Given the description of an element on the screen output the (x, y) to click on. 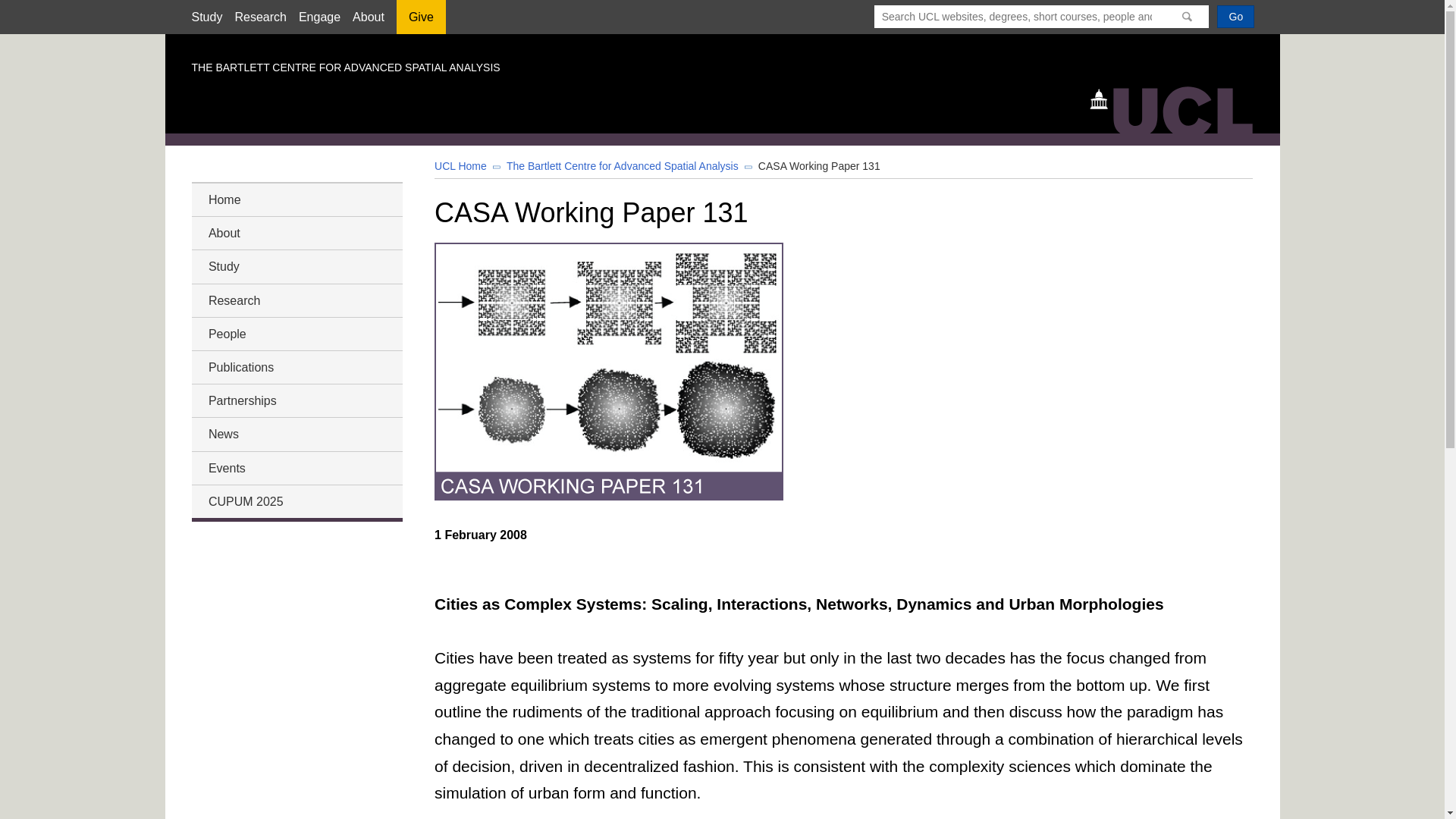
Partnerships (296, 400)
About (368, 16)
Give (420, 22)
About (296, 232)
Events (296, 467)
Go (1235, 15)
Home (1178, 108)
Home (296, 199)
Publications (296, 367)
Go (1235, 15)
